Given the description of an element on the screen output the (x, y) to click on. 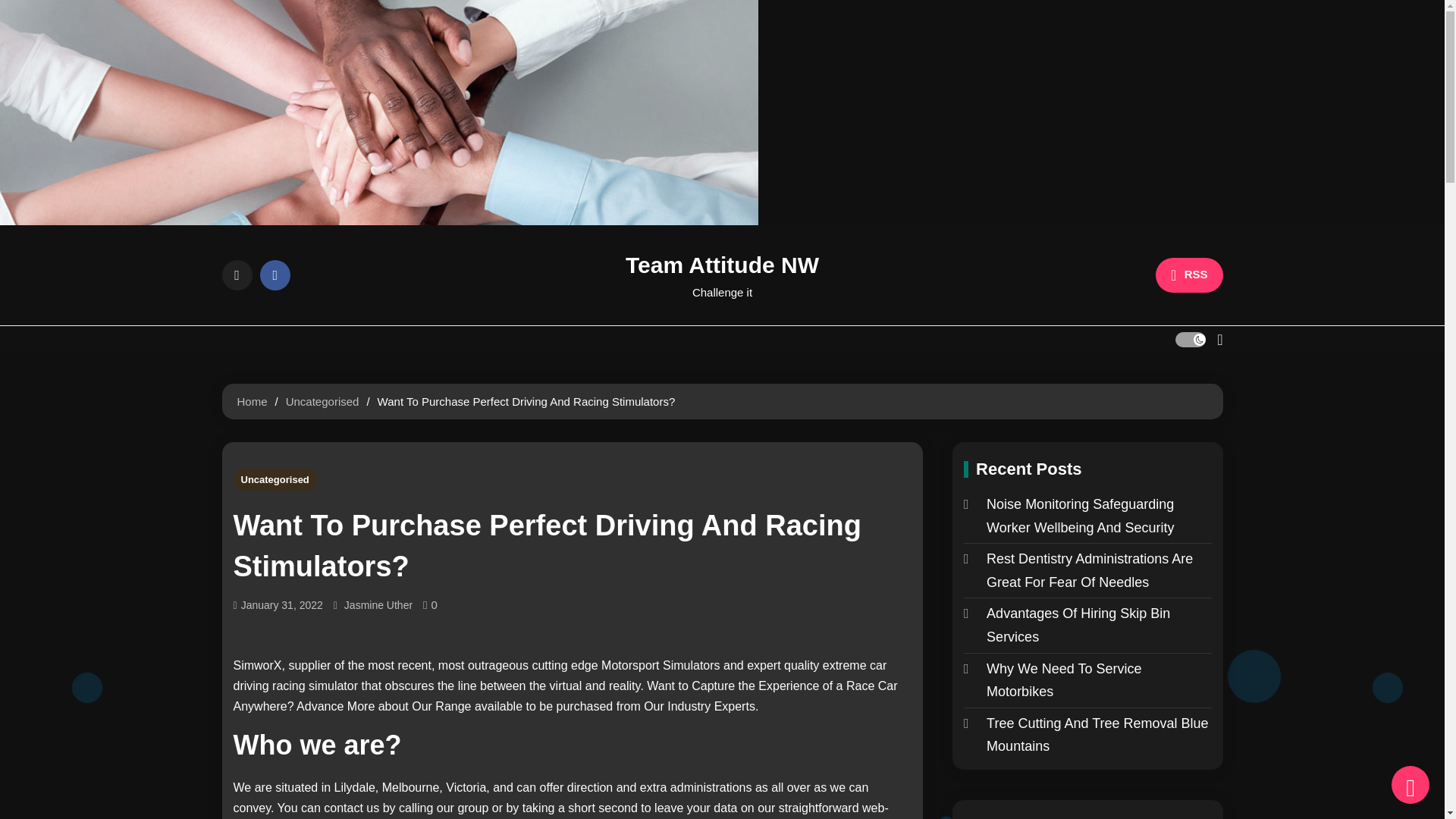
Rest Dentistry Administrations Are Great For Fear Of Needles (1087, 570)
Search (1180, 397)
January 31, 2022 (282, 605)
Advantages Of Hiring Skip Bin Services (1087, 624)
site mode button (1189, 339)
Uncategorised (322, 400)
Jasmine Uther (377, 605)
Noise Monitoring Safeguarding Worker Wellbeing And Security (1087, 515)
RSS (1189, 274)
Team Attitude NW (722, 264)
Home (250, 400)
Uncategorised (274, 479)
